Given the description of an element on the screen output the (x, y) to click on. 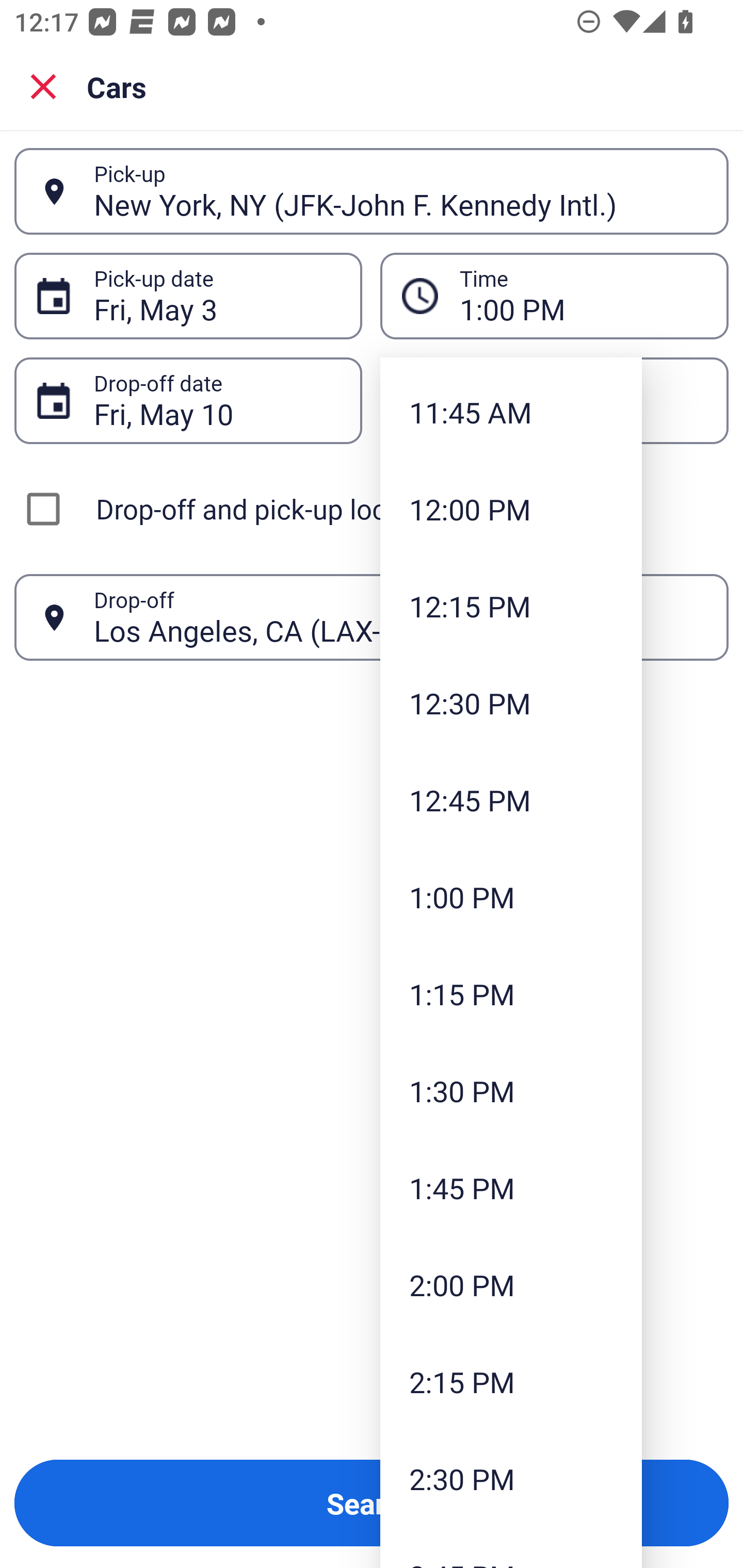
11:45 AM (510, 411)
12:00 PM (510, 509)
12:15 PM (510, 605)
12:30 PM (510, 702)
12:45 PM (510, 799)
1:00 PM (510, 896)
1:15 PM (510, 993)
1:30 PM (510, 1090)
1:45 PM (510, 1187)
2:00 PM (510, 1283)
2:15 PM (510, 1381)
2:30 PM (510, 1478)
